Given the description of an element on the screen output the (x, y) to click on. 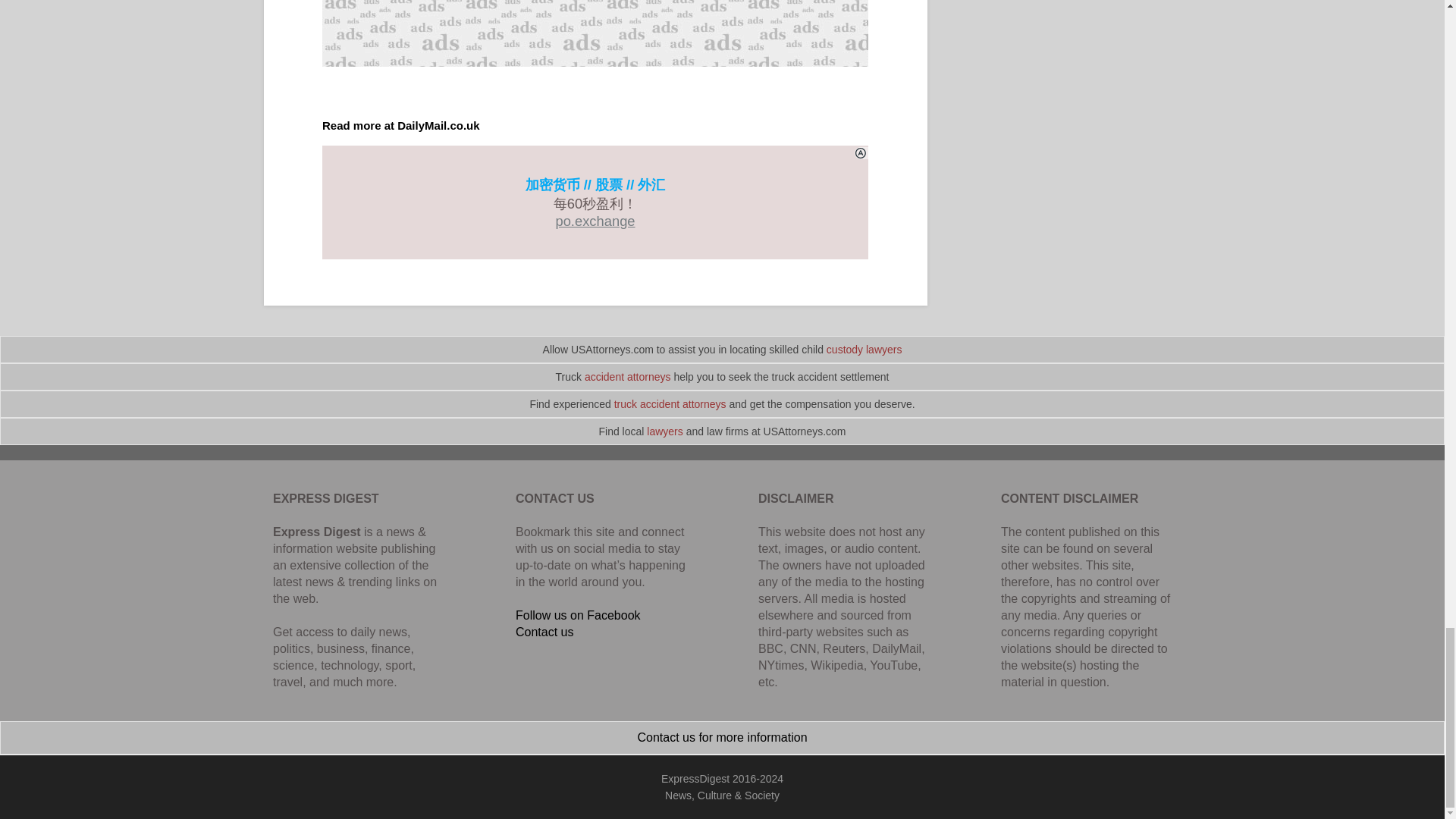
lawyers (664, 431)
custody lawyers (864, 349)
Read more at DailyMail.co.uk (400, 124)
accident attorneys (628, 377)
truck accident attorneys (670, 404)
